Given the description of an element on the screen output the (x, y) to click on. 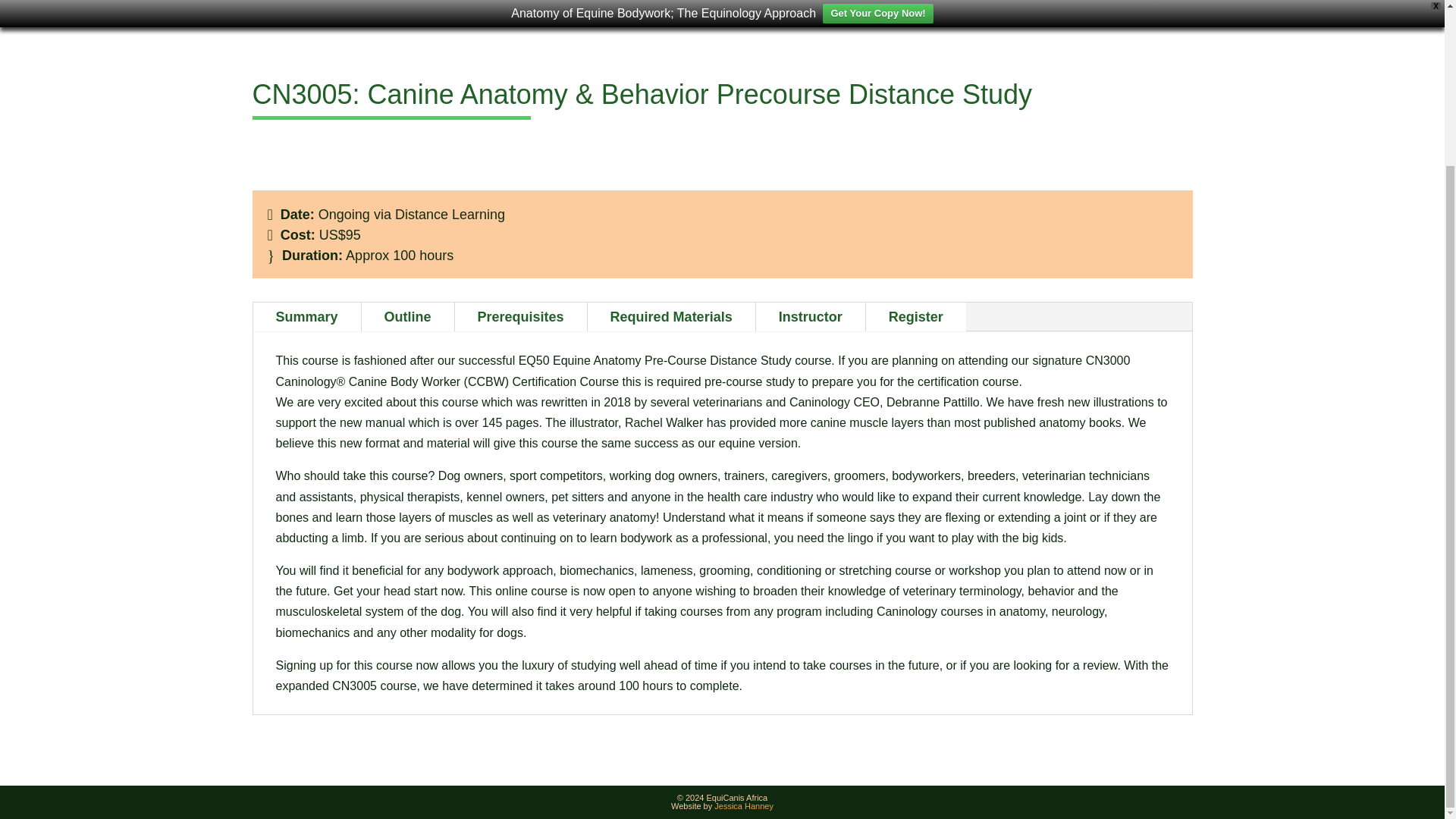
Summary (307, 317)
BODYWORKERS (553, 2)
HOME (294, 2)
Register (916, 317)
Jessica Hanney (743, 805)
Required Materials (671, 317)
Outline (407, 317)
Instructor (809, 317)
COURSES (442, 2)
LICENSED PROFESSIONALS (846, 2)
